Given the description of an element on the screen output the (x, y) to click on. 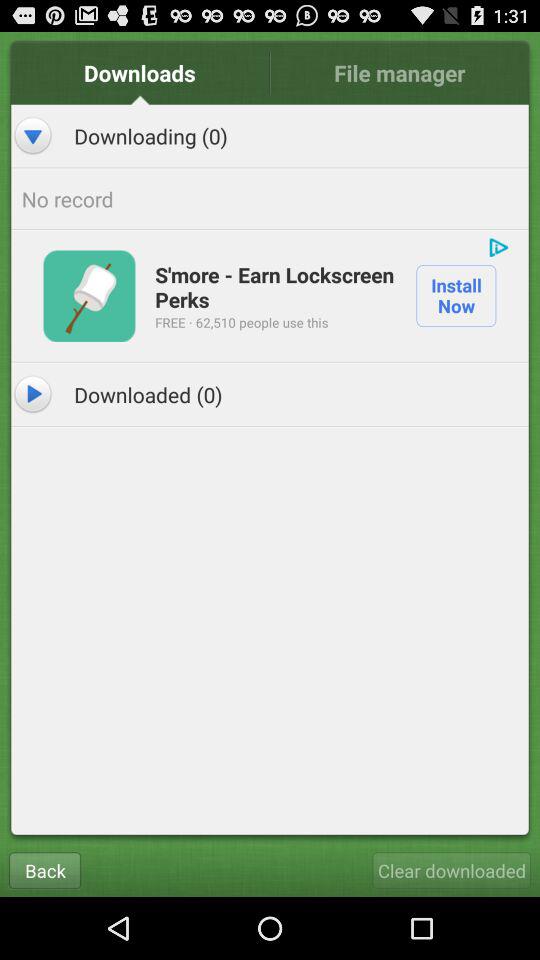
launch the item next to back (451, 870)
